Given the description of an element on the screen output the (x, y) to click on. 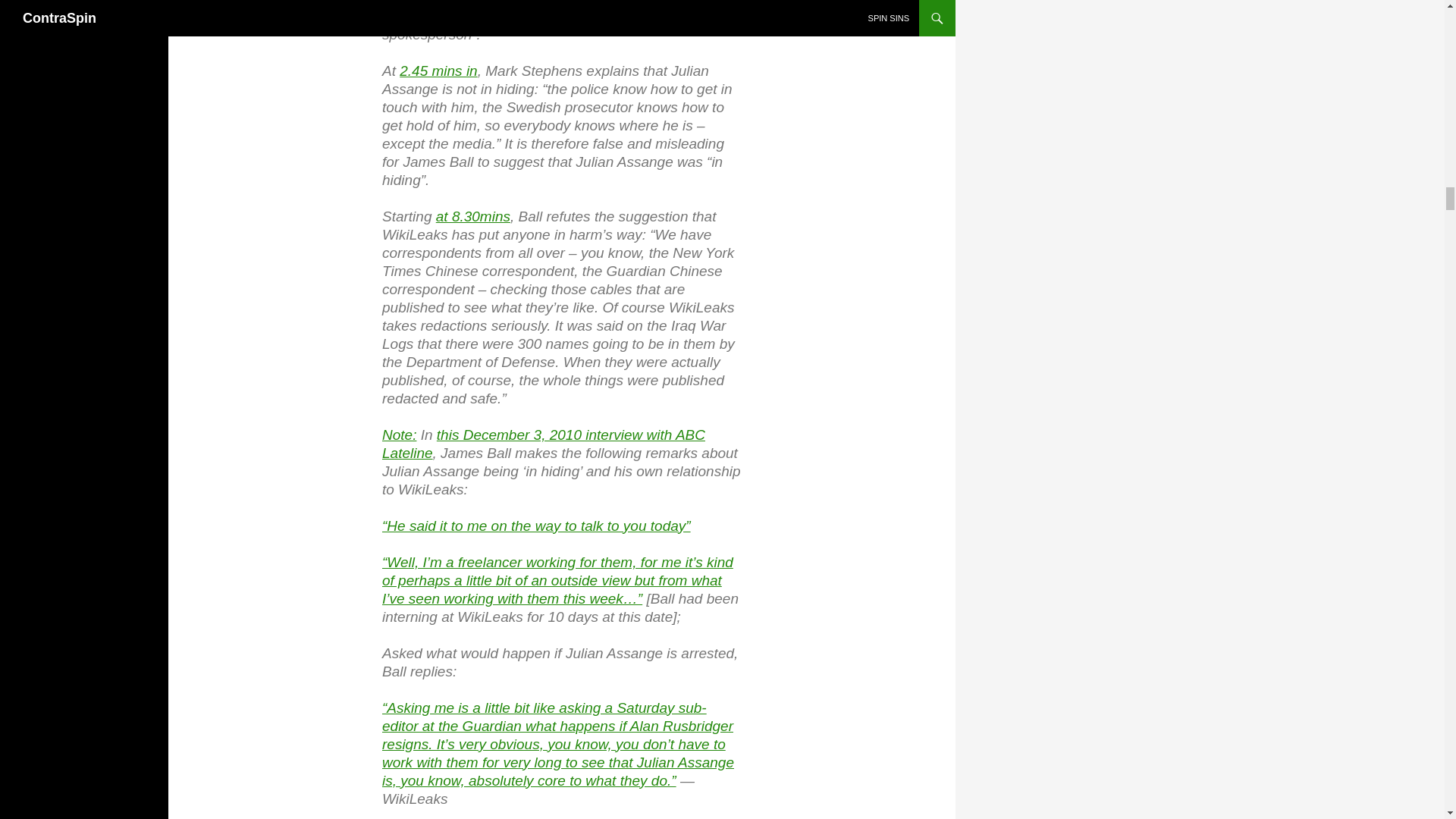
2.45 mins in (437, 69)
